Given the description of an element on the screen output the (x, y) to click on. 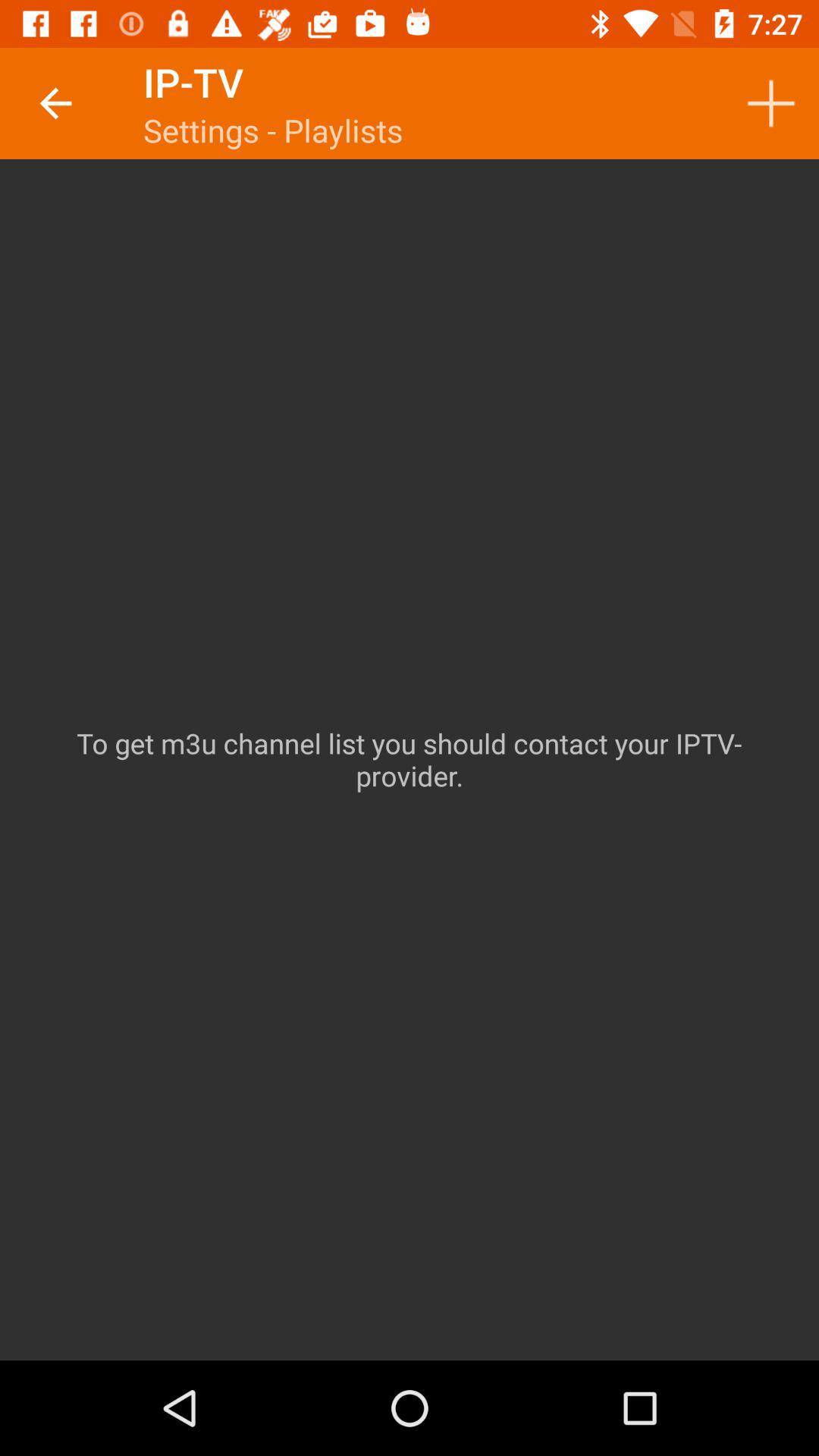
click icon next to ip-tv item (55, 103)
